Given the description of an element on the screen output the (x, y) to click on. 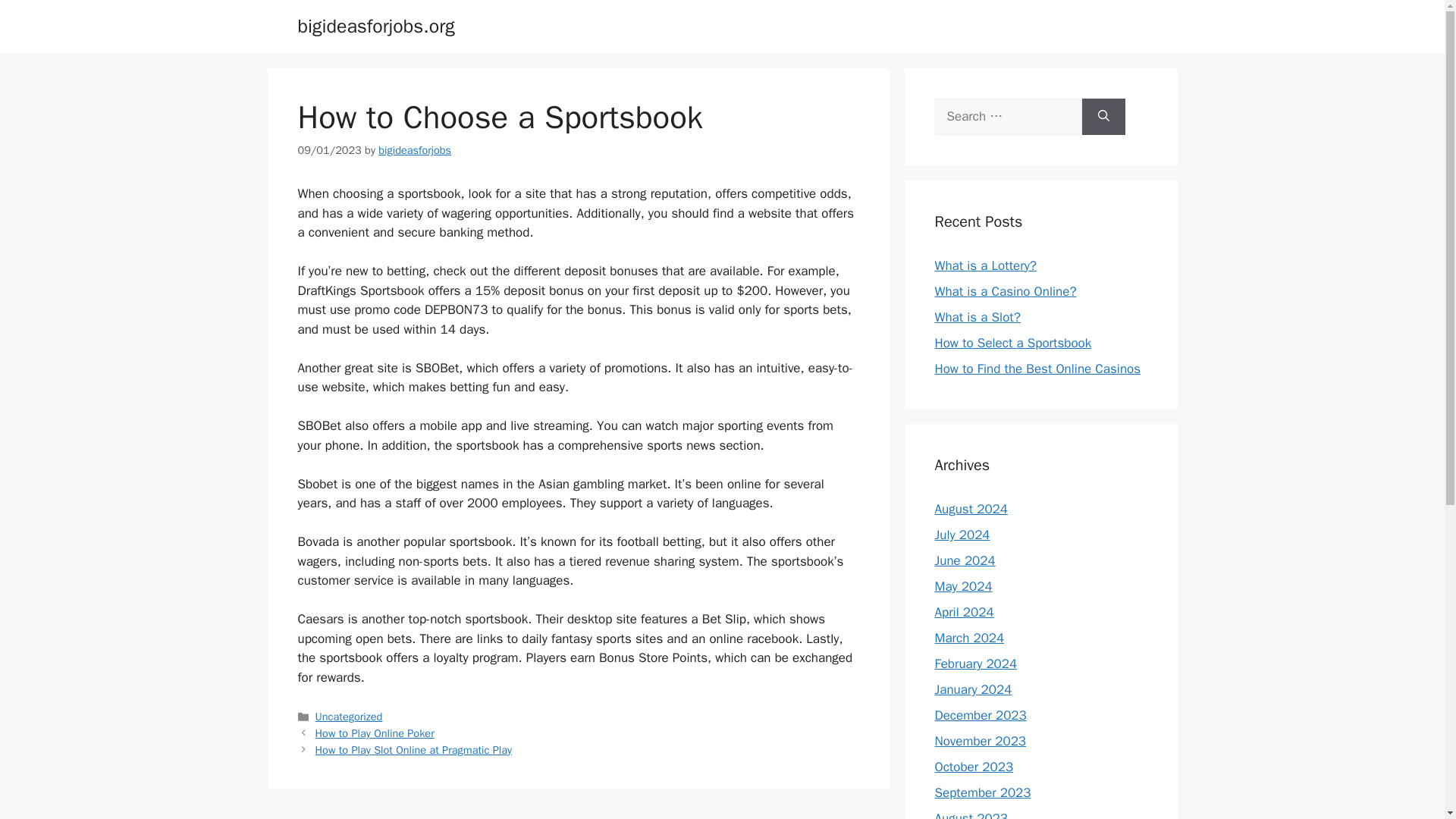
March 2024 (969, 637)
May 2024 (962, 586)
What is a Casino Online? (1004, 291)
Search for: (1007, 116)
bigideasforjobs.org (375, 25)
January 2024 (972, 689)
September 2023 (982, 792)
How to Play Online Poker (374, 733)
August 2023 (970, 814)
February 2024 (975, 663)
